Given the description of an element on the screen output the (x, y) to click on. 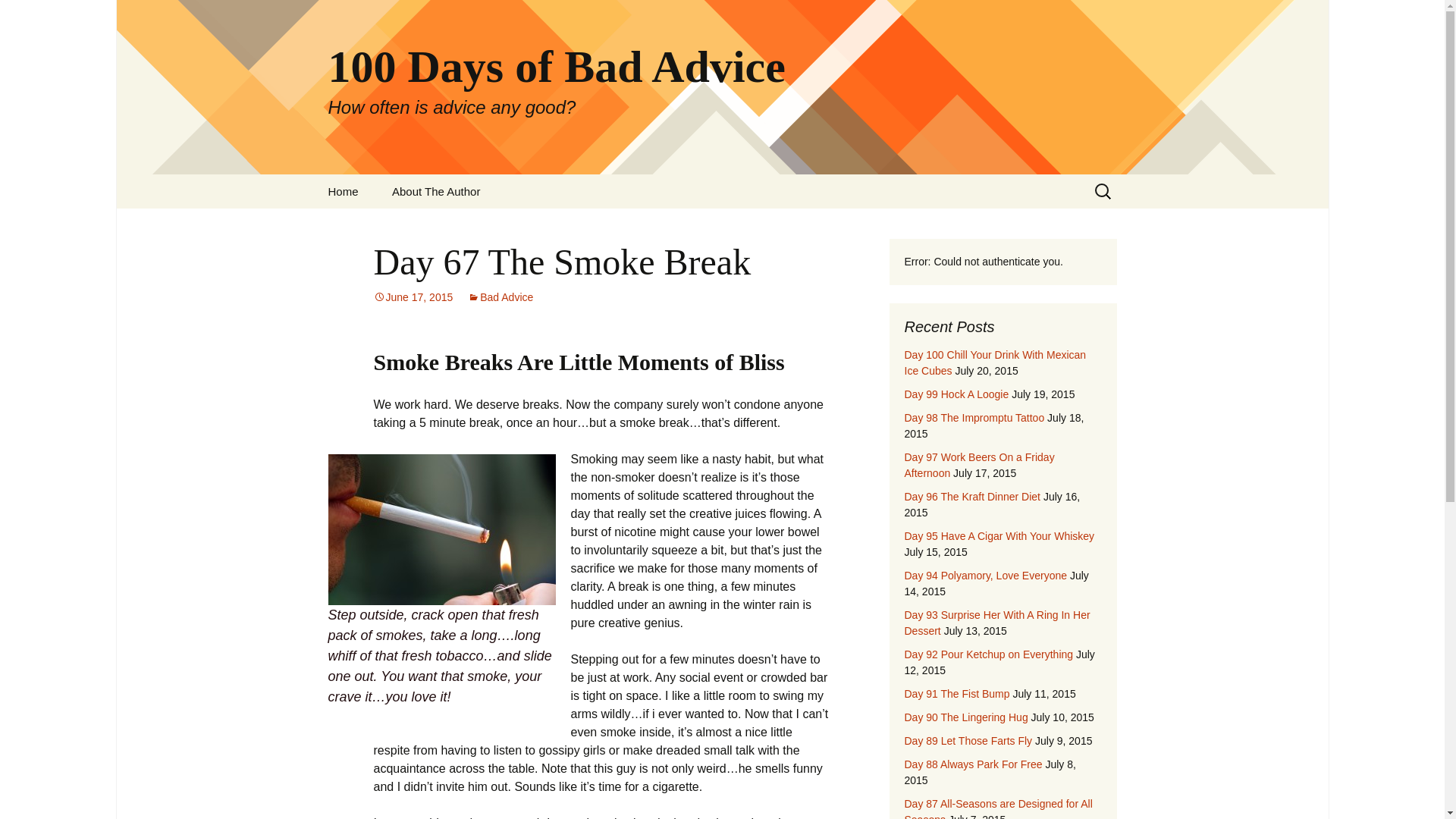
Day 100 Chill Your Drink With Mexican Ice Cubes (995, 362)
Search (18, 15)
About The Author (436, 191)
Day 92 Pour Ketchup on Everything (988, 654)
Day 93 Surprise Her With A Ring In Her Dessert (996, 623)
Day 96 The Kraft Dinner Diet (972, 496)
Day 98 The Impromptu Tattoo (999, 535)
100 Days of Bad Advice (973, 417)
Home (973, 764)
Permalink to Day 67 The Smoke Break (342, 191)
Day 90 The Lingering Hug (412, 297)
